Given the description of an element on the screen output the (x, y) to click on. 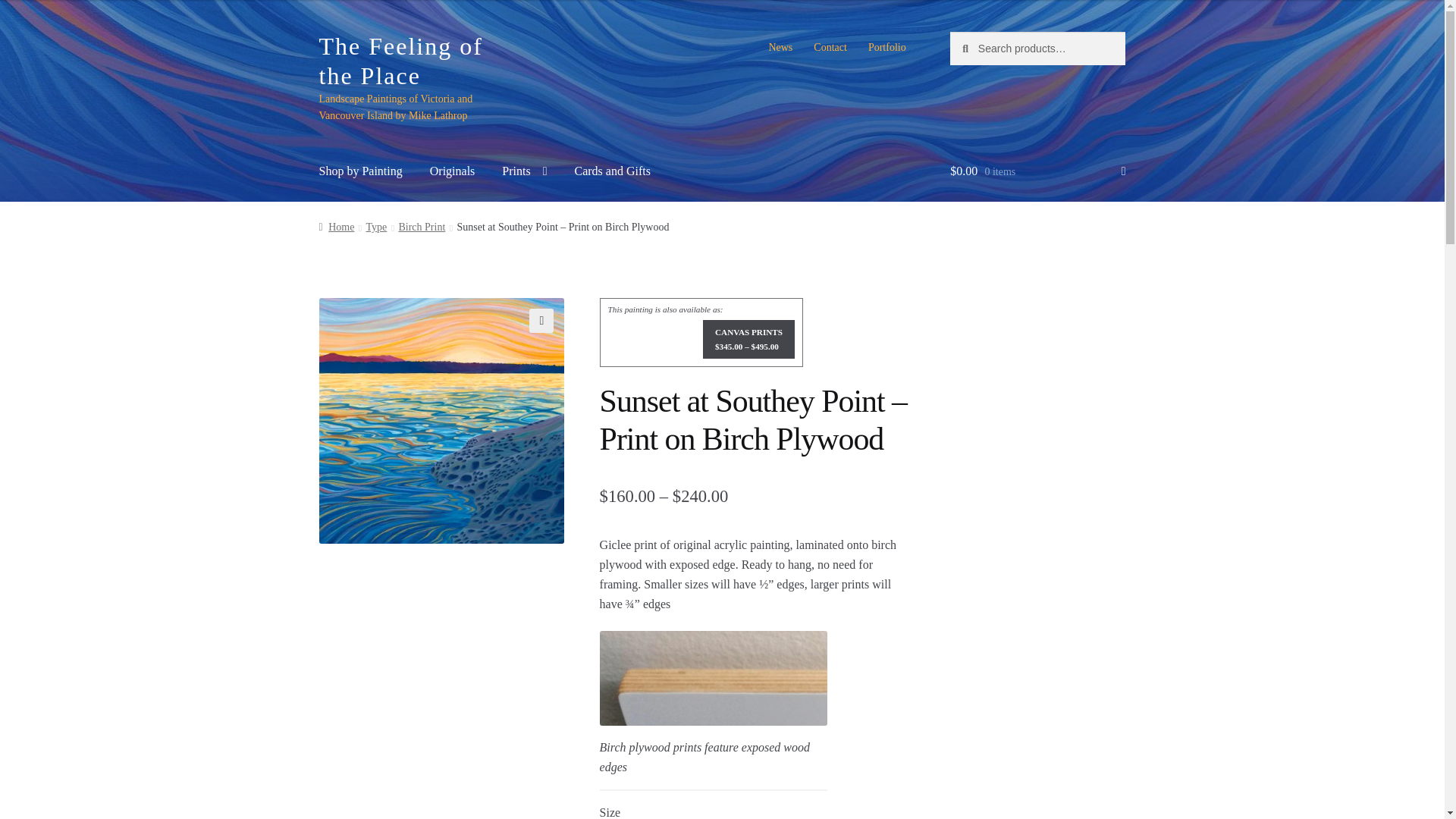
News (780, 47)
Contact (830, 47)
Prints (524, 170)
Birch Print (421, 226)
Portfolio (887, 47)
View your shopping cart (1037, 170)
Home (336, 226)
Shop by Painting (360, 170)
